Given the description of an element on the screen output the (x, y) to click on. 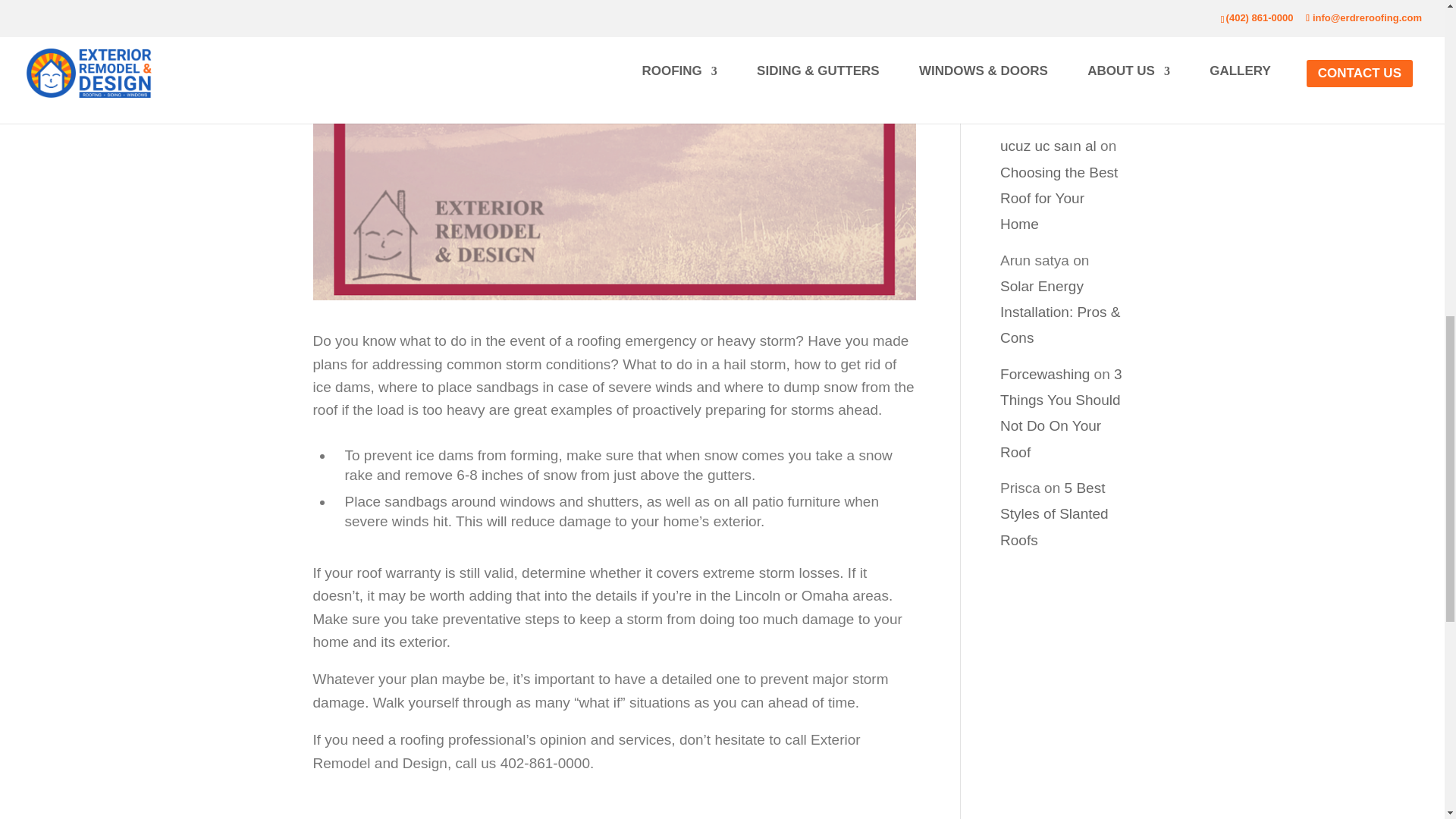
Forcewashing (1044, 374)
pubg moile uc (1044, 32)
4 Signs of a Damaged Rooftop Vent Pipe (1061, 70)
Choosing the Best Roof for Your Home (1059, 197)
